Given the description of an element on the screen output the (x, y) to click on. 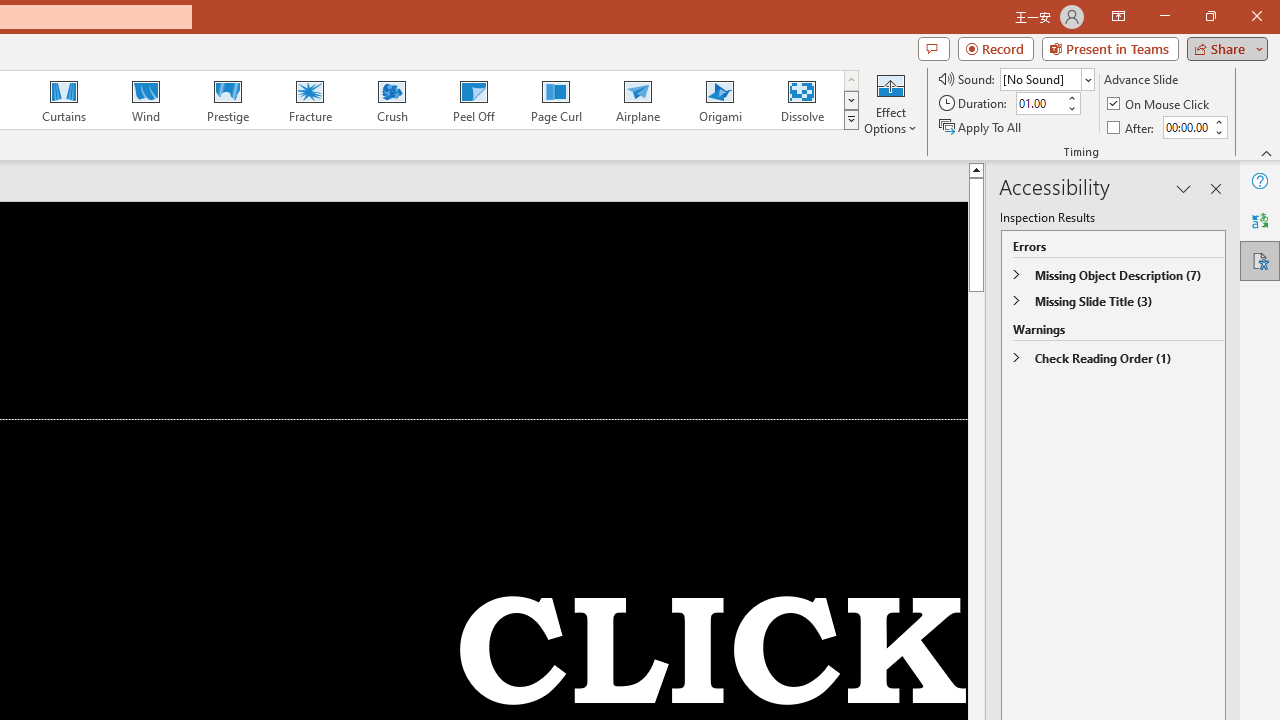
Peel Off (473, 100)
Fracture (309, 100)
Wind (145, 100)
Dissolve (802, 100)
Prestige (227, 100)
Curtains (63, 100)
Crush (391, 100)
Page Curl (555, 100)
Duration (1039, 103)
